Given the description of an element on the screen output the (x, y) to click on. 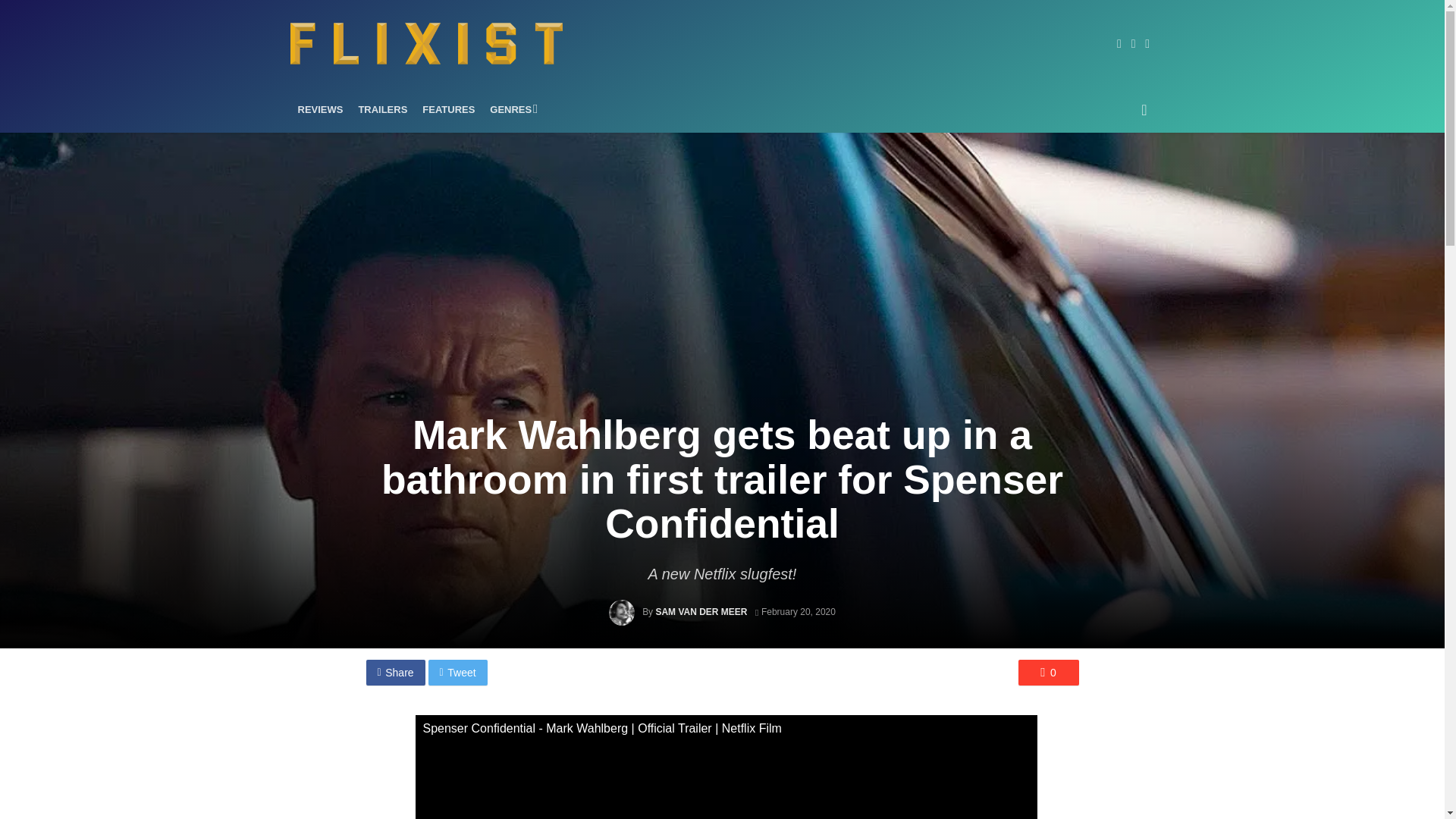
REVIEWS (319, 109)
February 20, 2020 at 2:10 pm (795, 611)
Share (395, 672)
SAM VAN DER MEER (700, 611)
Posts by Sam van der Meer (700, 611)
0 (1047, 672)
Tweet (457, 672)
Genres (511, 109)
GENRES (511, 109)
TRAILERS (382, 109)
